Given the description of an element on the screen output the (x, y) to click on. 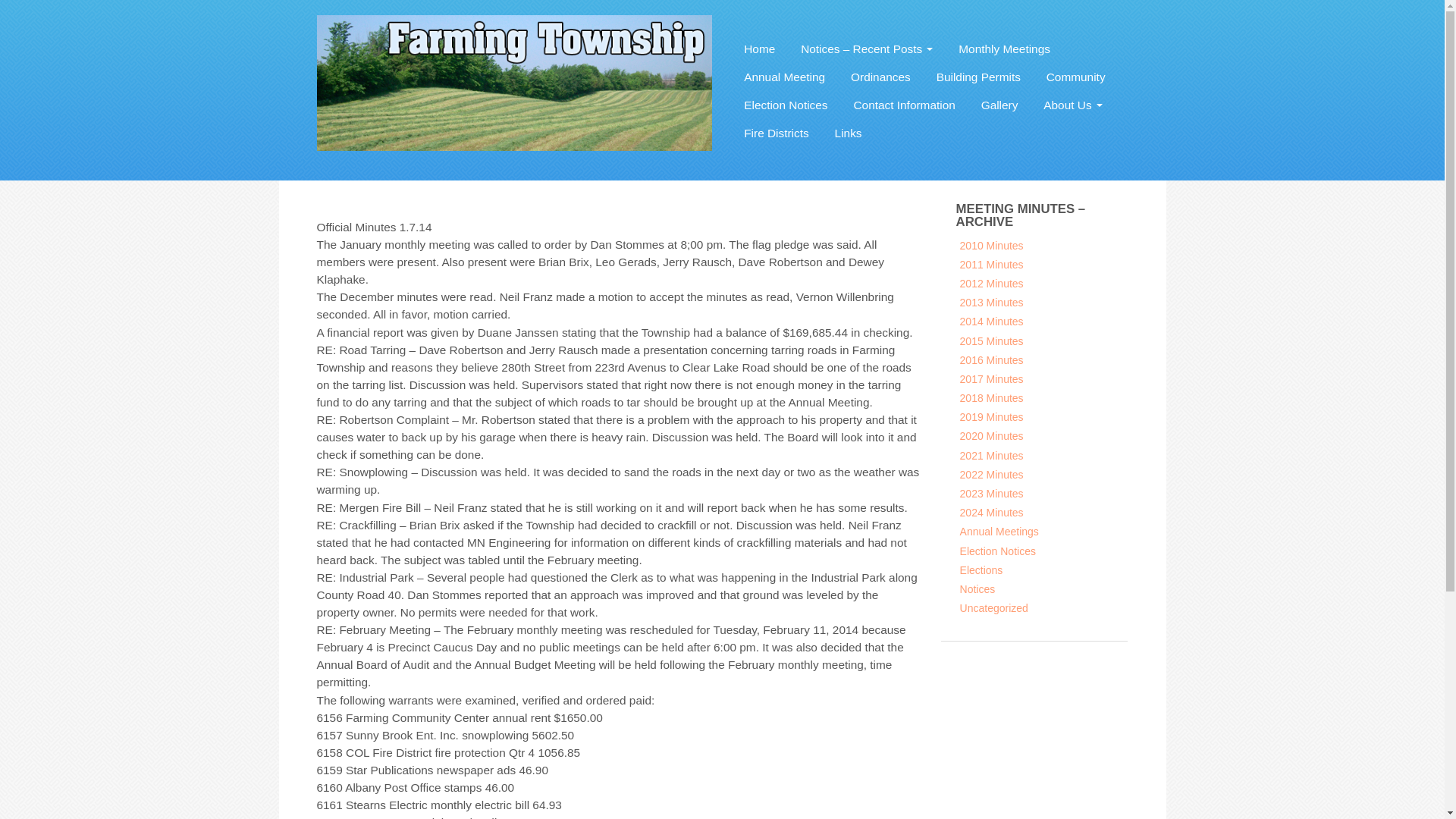
About Us (1072, 103)
2014 Minutes (991, 321)
2019 Minutes (991, 417)
2018 Minutes (991, 398)
2023 Minutes (991, 493)
2017 Minutes (991, 378)
Annual Meeting (784, 76)
2011 Minutes (991, 264)
2010 Minutes (991, 245)
Election Notices (785, 103)
2012 Minutes (991, 283)
Annual Meetings (999, 531)
Community (1075, 76)
Gallery (999, 103)
Building Permits (978, 76)
